Given the description of an element on the screen output the (x, y) to click on. 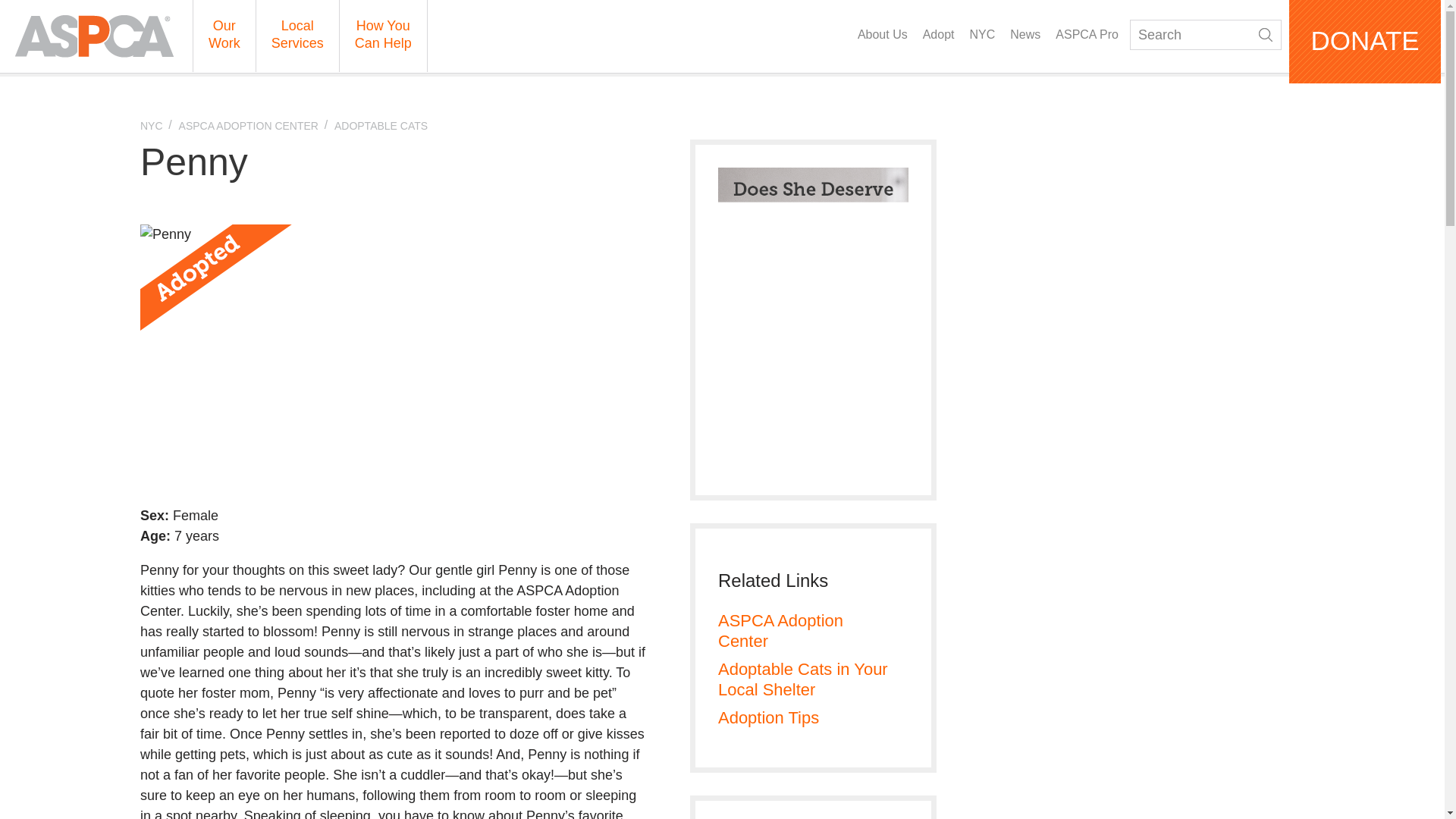
Search (1265, 34)
Search (1205, 34)
Home (93, 36)
